Given the description of an element on the screen output the (x, y) to click on. 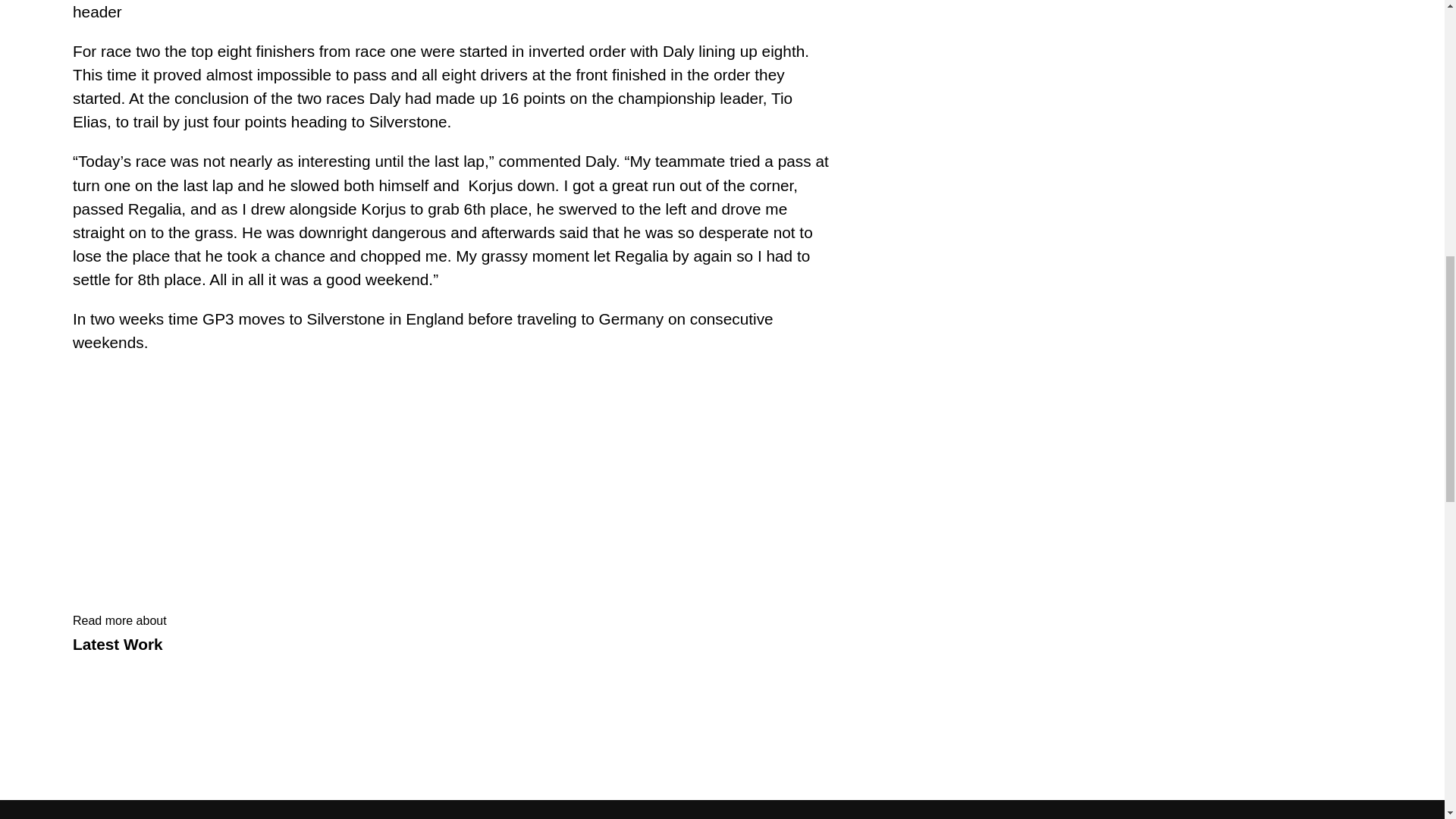
Latest Work (119, 643)
